Given the description of an element on the screen output the (x, y) to click on. 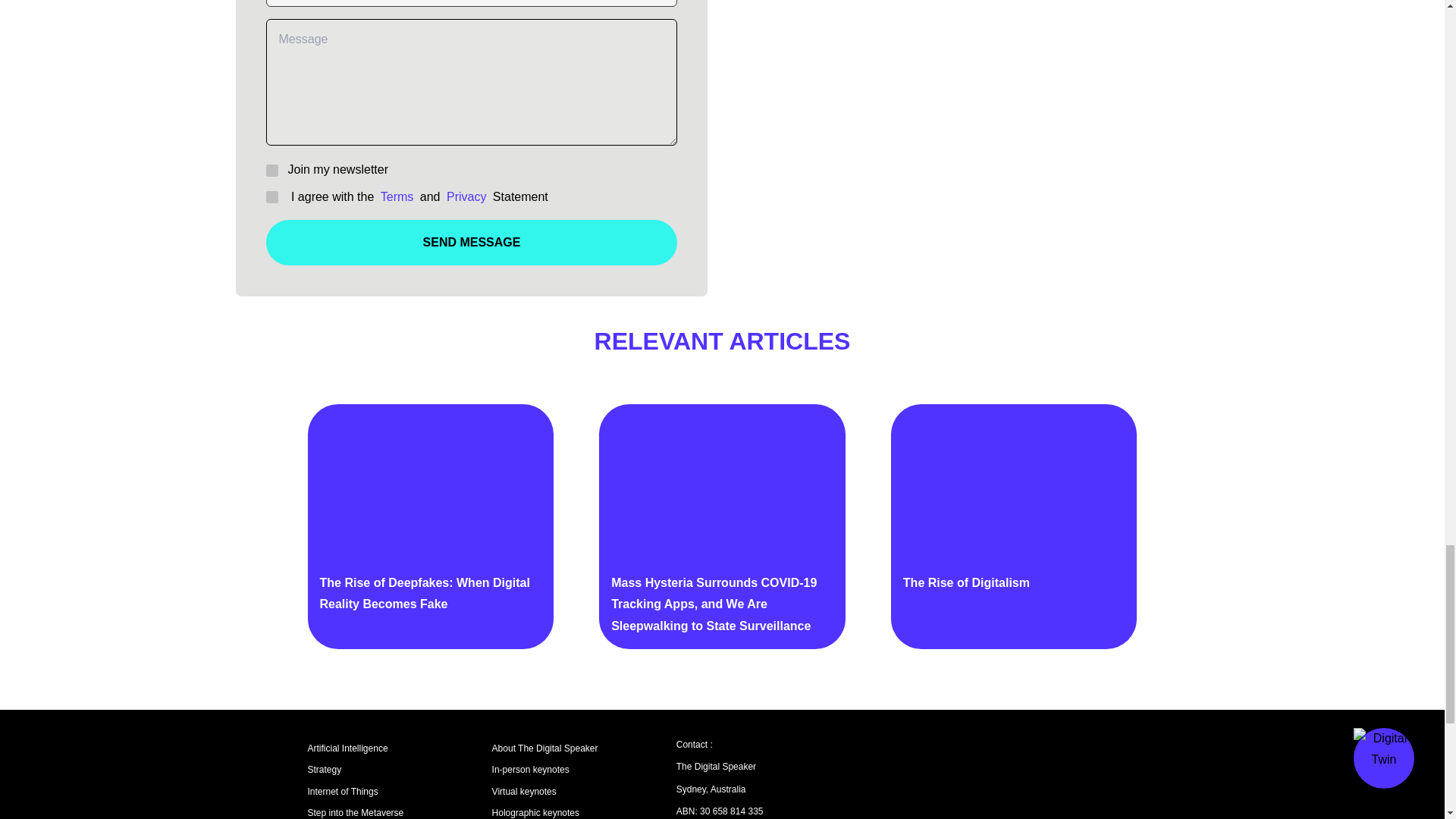
No (269, 169)
Yes (269, 195)
